Given the description of an element on the screen output the (x, y) to click on. 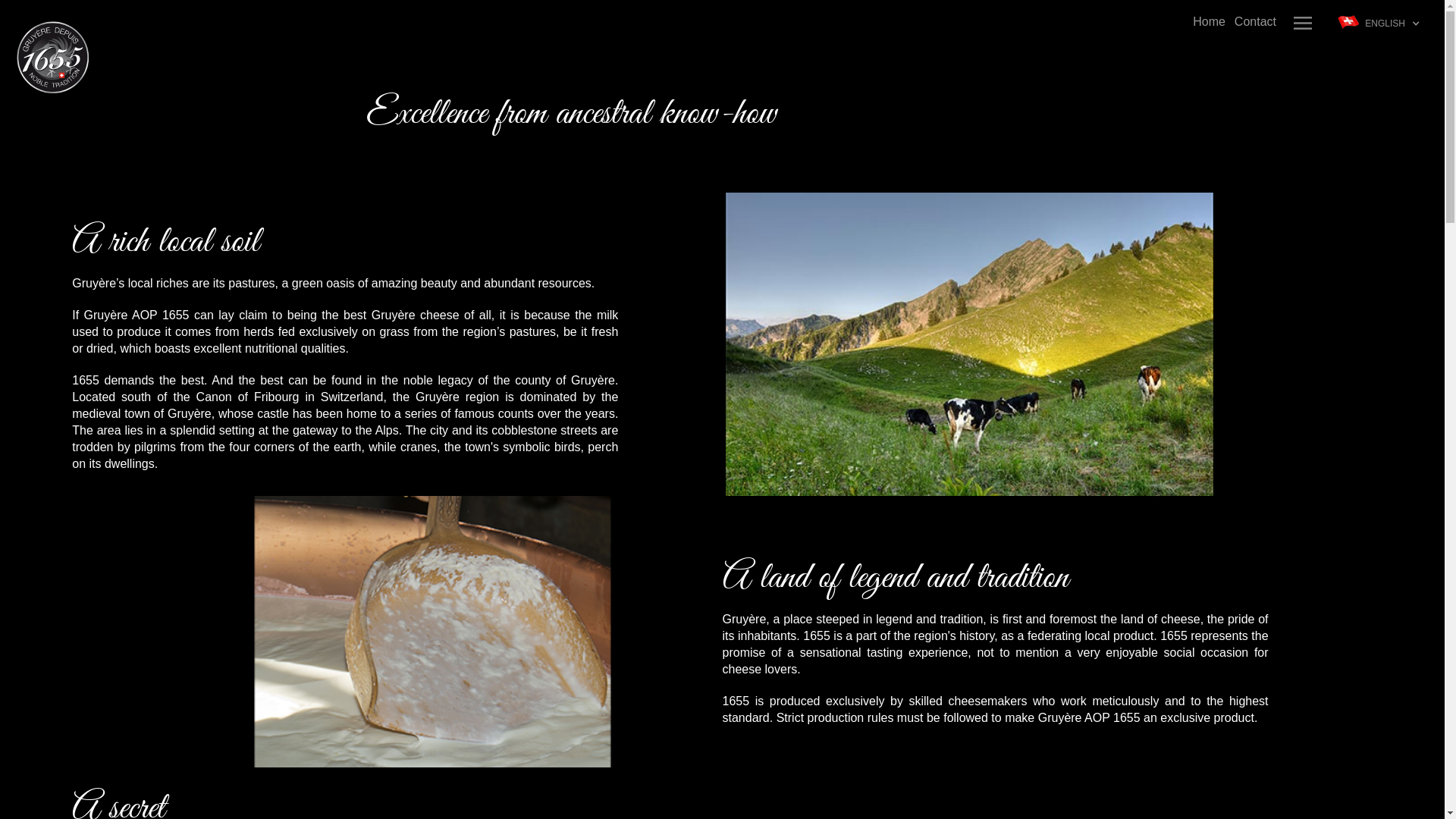
Home Element type: text (1208, 21)
Contact Element type: text (1255, 21)
